Given the description of an element on the screen output the (x, y) to click on. 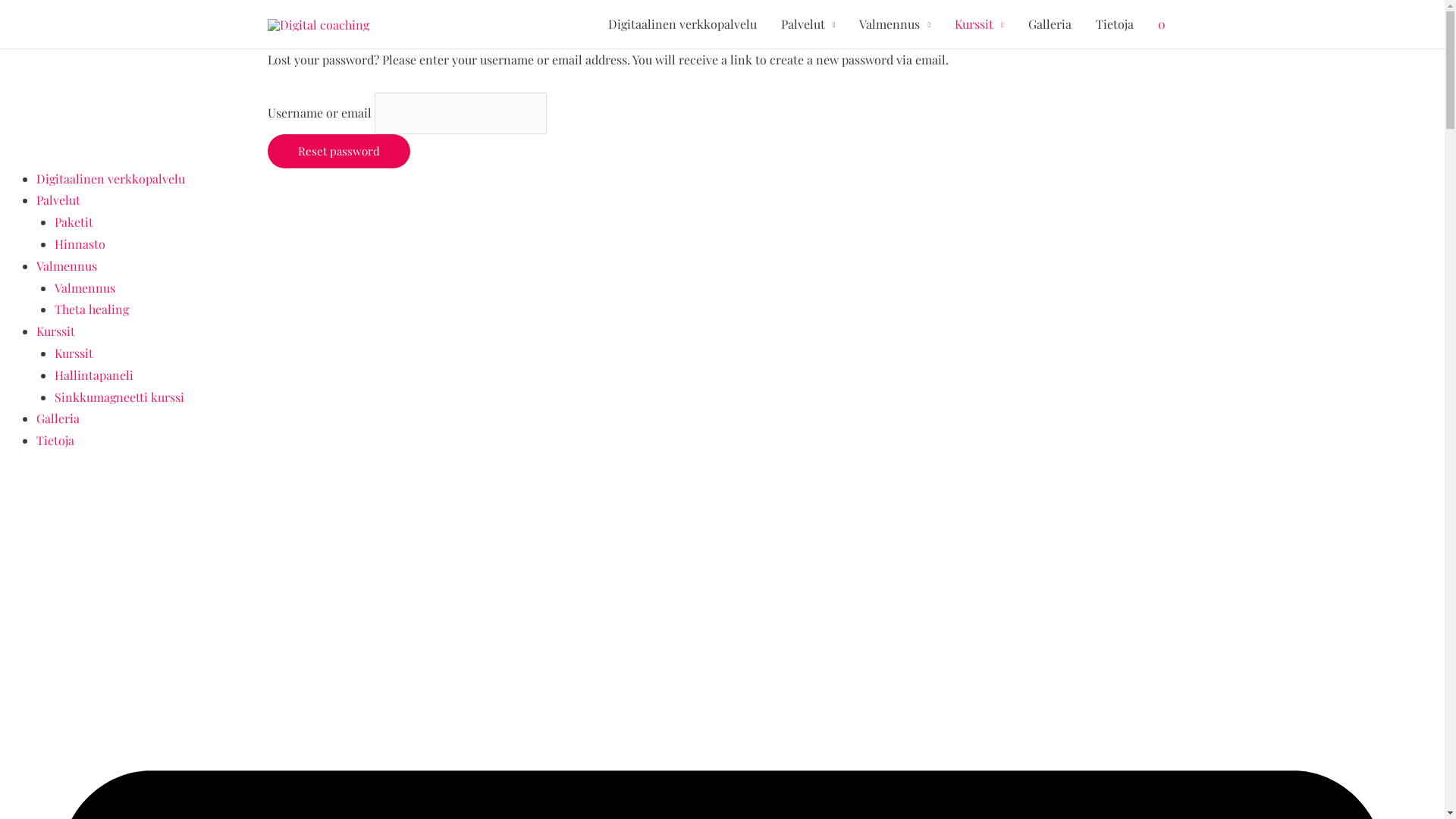
Valmennus Element type: text (66, 265)
Galleria Element type: text (1049, 24)
Reset password Element type: text (337, 151)
Theta healing Element type: text (91, 308)
Digitaalinen verkkopalvelu Element type: text (682, 24)
0 Element type: text (1160, 24)
Palvelut Element type: text (58, 199)
Kurssit Element type: text (979, 24)
Paketit Element type: text (73, 221)
Valmennus Element type: text (84, 287)
Digitaalinen verkkopalvelu Element type: text (110, 178)
Kurssit Element type: text (73, 352)
Tietoja Element type: text (1113, 24)
Sinkkumagneetti kurssi Element type: text (119, 396)
Hinnasto Element type: text (79, 243)
Valmennus Element type: text (894, 24)
Palvelut Element type: text (807, 24)
Hallintapaneli Element type: text (93, 374)
Galleria Element type: text (57, 418)
Tietoja Element type: text (55, 440)
Kurssit Element type: text (55, 330)
